Given the description of an element on the screen output the (x, y) to click on. 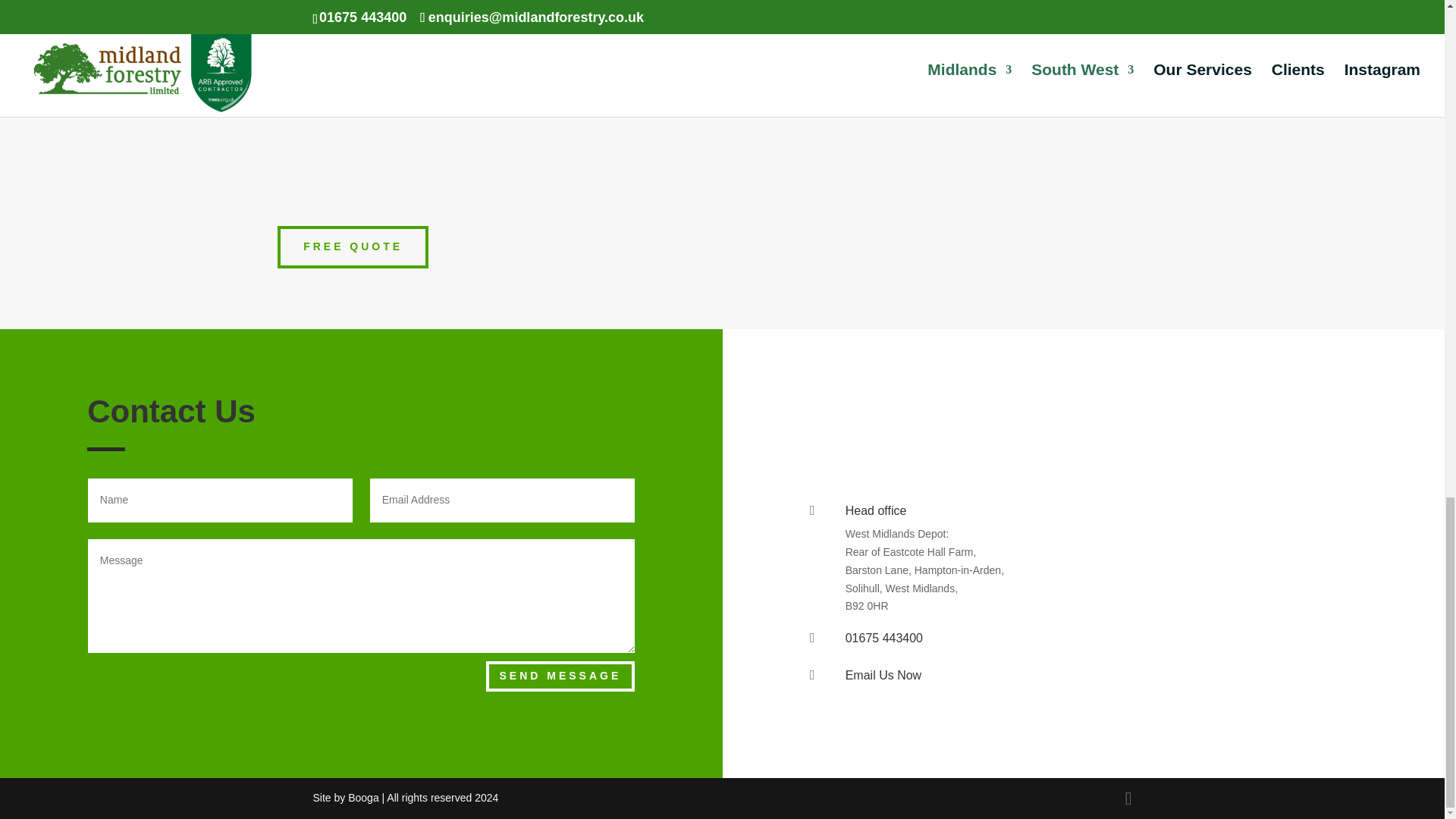
FREE QUOTE (353, 247)
Email Us Now (883, 675)
SEND MESSAGE (559, 675)
